Given the description of an element on the screen output the (x, y) to click on. 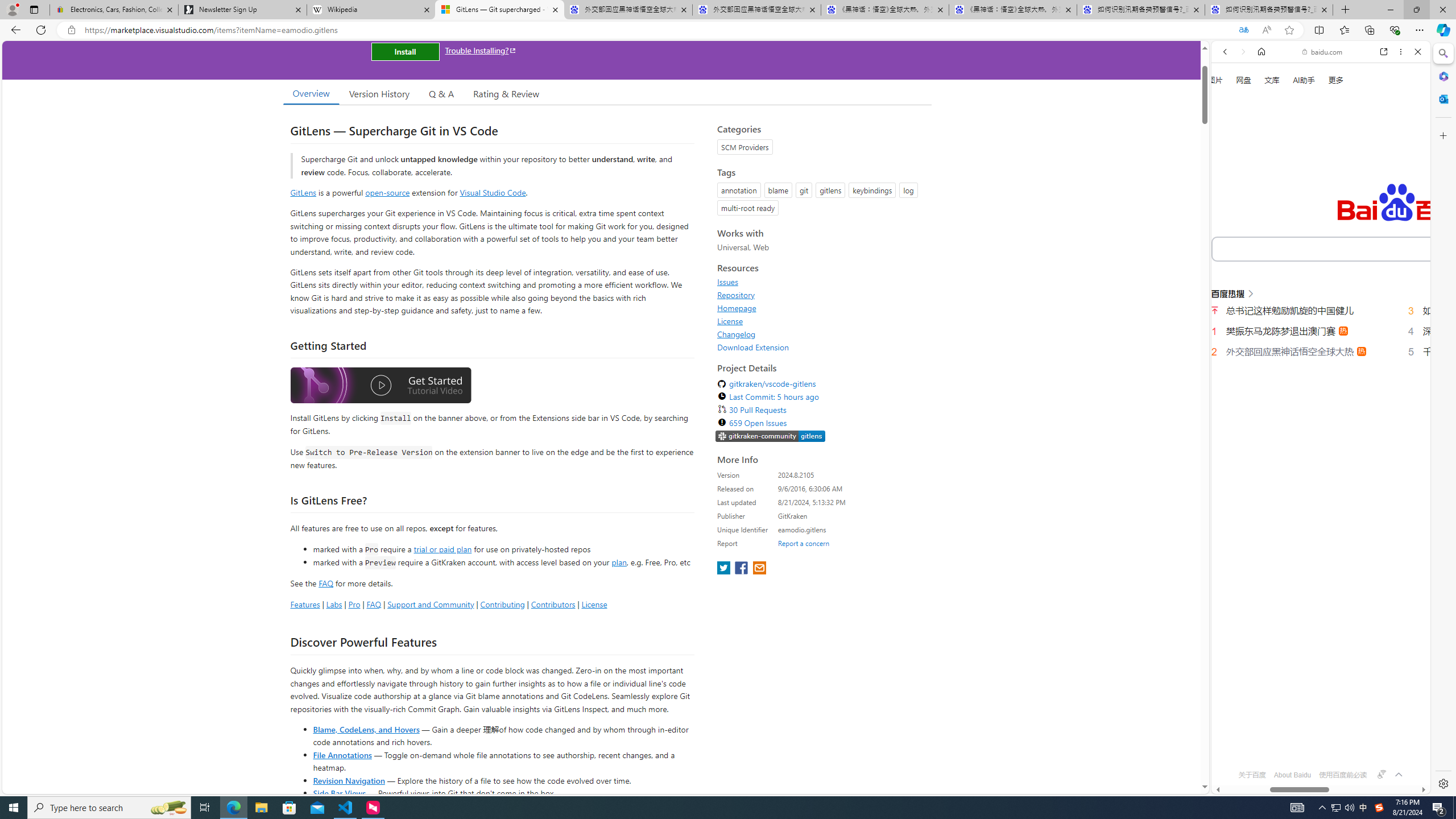
About Baidu (1292, 774)
Cambridge Dictionary (1315, 397)
Search Filter, VIDEOS (1300, 192)
Install (405, 51)
Issues (820, 281)
Visual Studio Code (492, 192)
Download Extension (753, 346)
Preferences (1403, 191)
More options (1401, 51)
Watch the GitLens Getting Started video (380, 387)
